Given the description of an element on the screen output the (x, y) to click on. 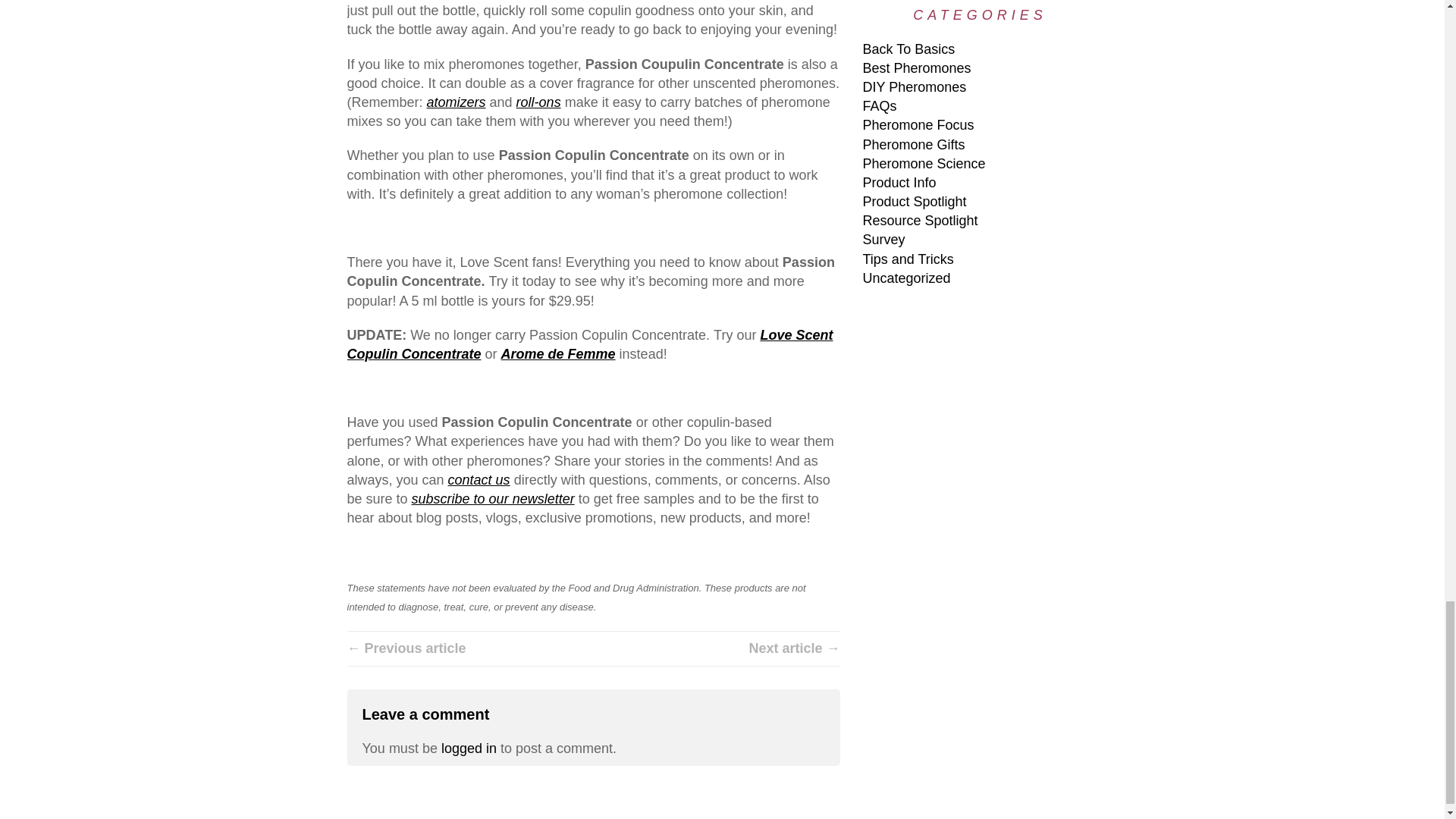
logged in (468, 748)
Love Scent Copulin Concentrate (589, 344)
subscribe to our newsletter (493, 498)
roll-ons (538, 102)
contact us (479, 479)
atomizers (456, 102)
Arome de Femme (557, 353)
